Given the description of an element on the screen output the (x, y) to click on. 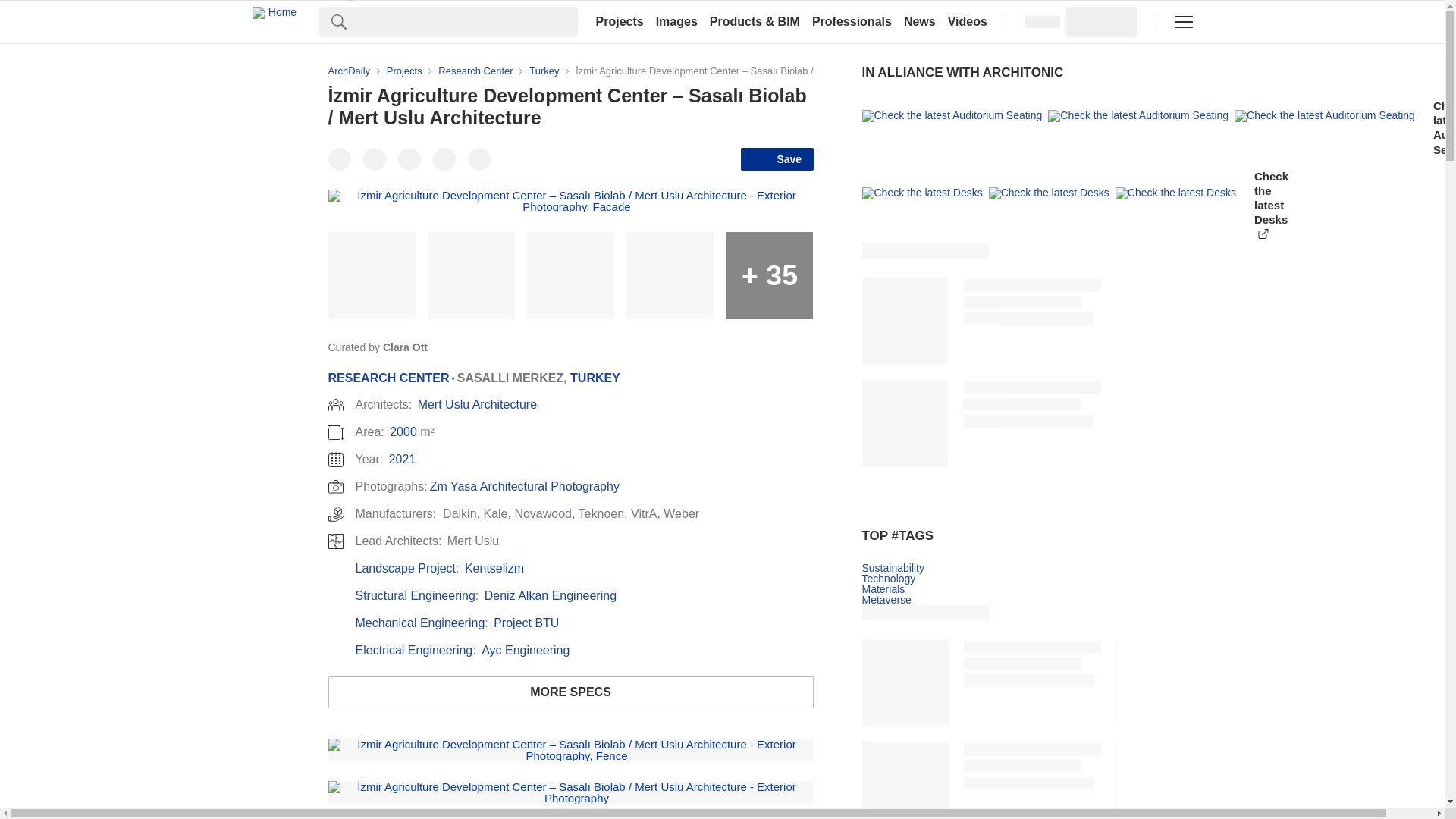
Professionals (852, 21)
News (920, 21)
Videos (967, 21)
Images (676, 21)
Projects (619, 21)
